Given the description of an element on the screen output the (x, y) to click on. 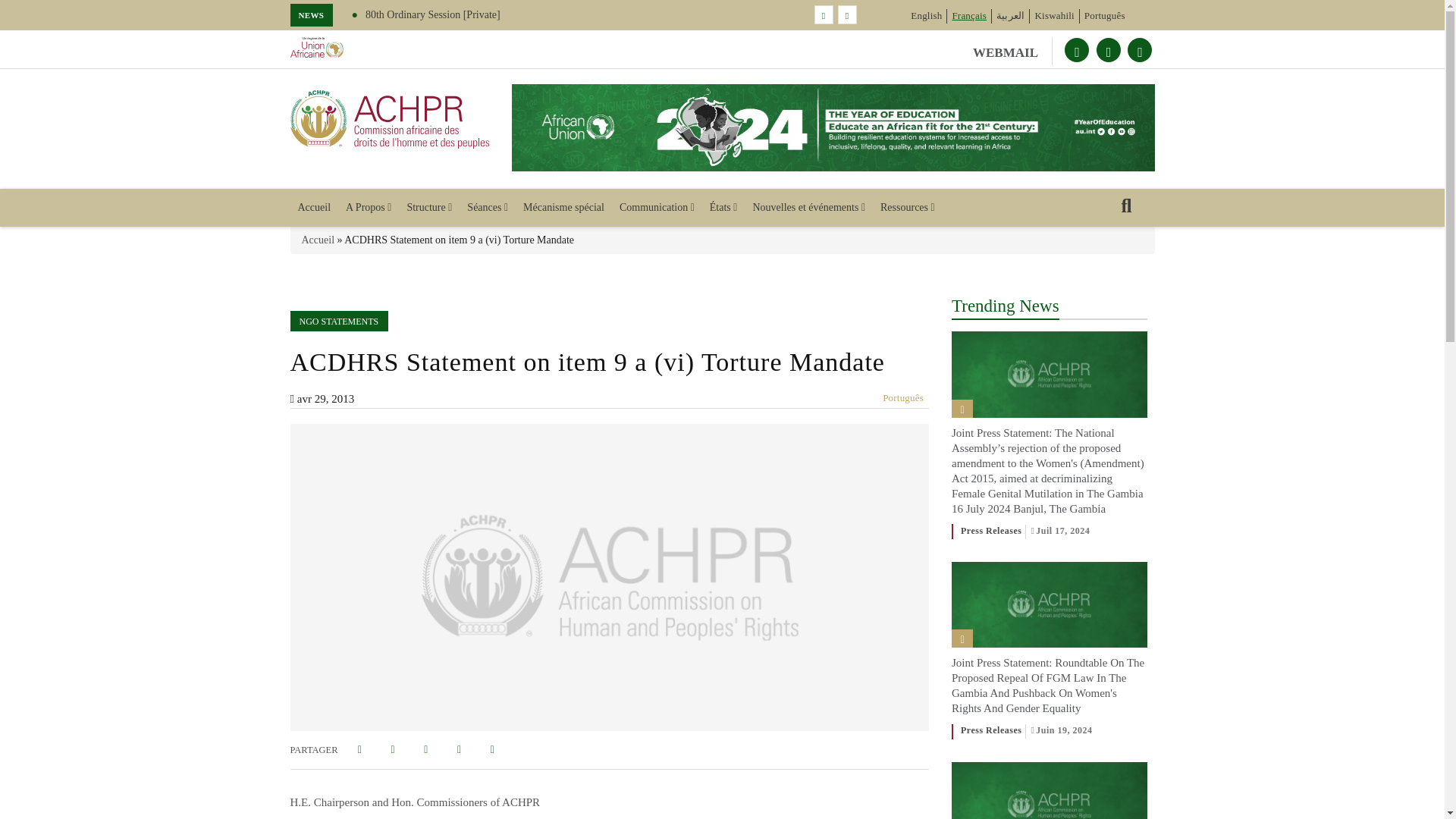
flickr (1138, 49)
Accueil (389, 119)
Kiswahili (1053, 15)
Twitter (1076, 49)
Youtube (1108, 49)
WEBMAIL (1012, 50)
English (926, 15)
